Given the description of an element on the screen output the (x, y) to click on. 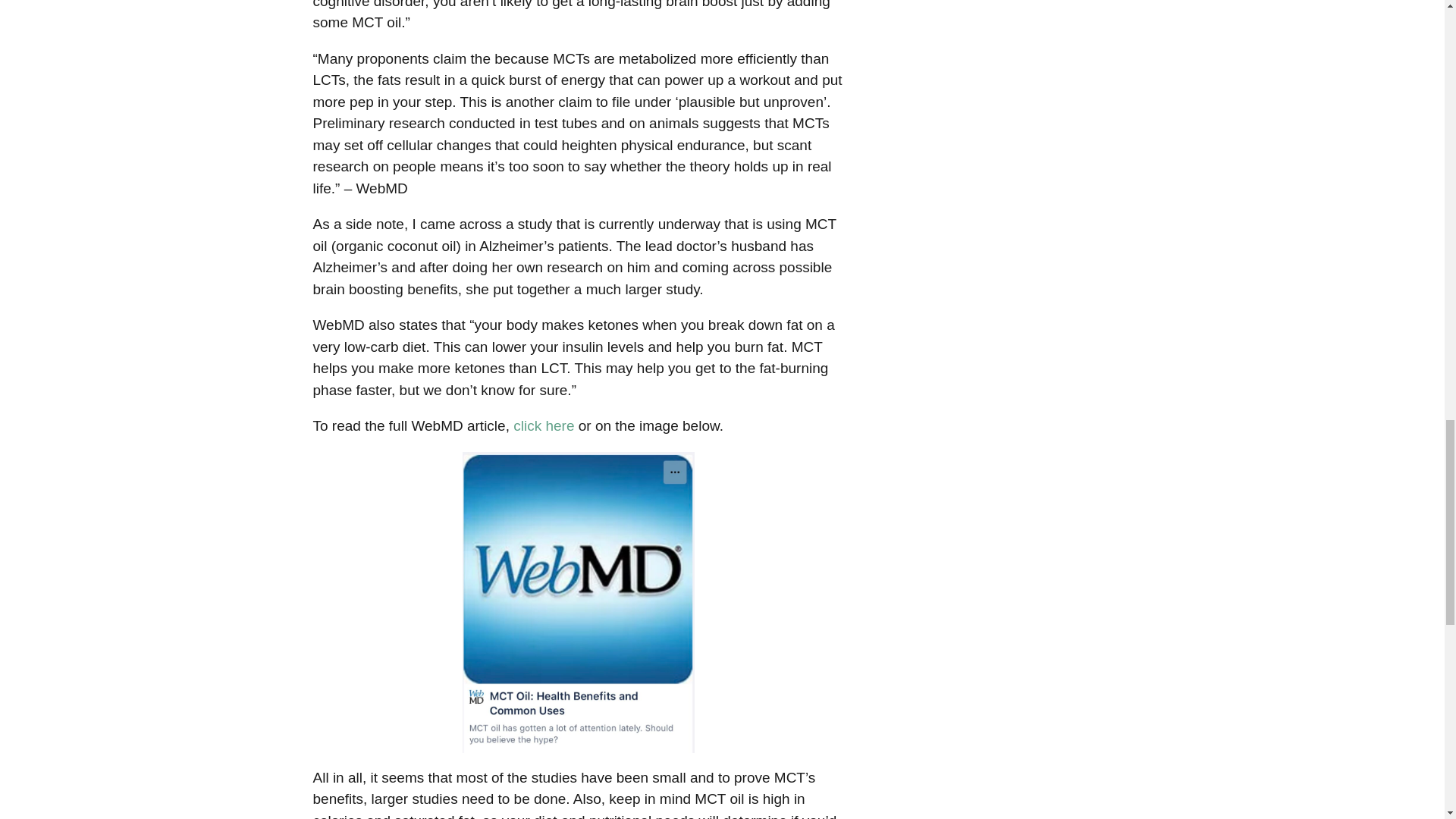
click here (543, 425)
